Given the description of an element on the screen output the (x, y) to click on. 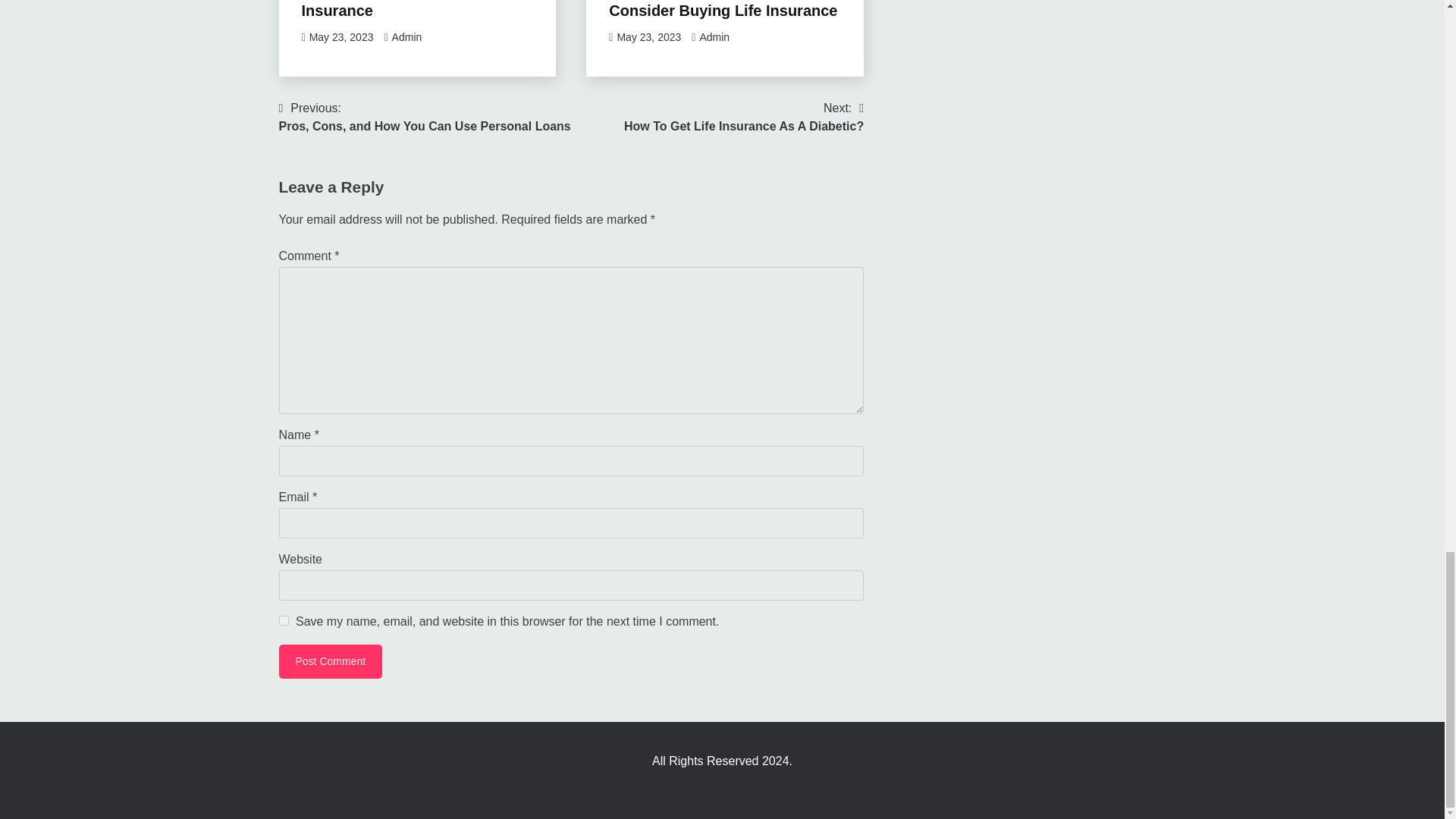
May 23, 2023 (341, 37)
yes (283, 620)
Admin (713, 37)
Reasons Why You Should Consider Buying Life Insurance (424, 117)
Post Comment (722, 9)
Mortgage Protection with Life Insurance (330, 661)
May 23, 2023 (408, 9)
Admin (743, 117)
